Given the description of an element on the screen output the (x, y) to click on. 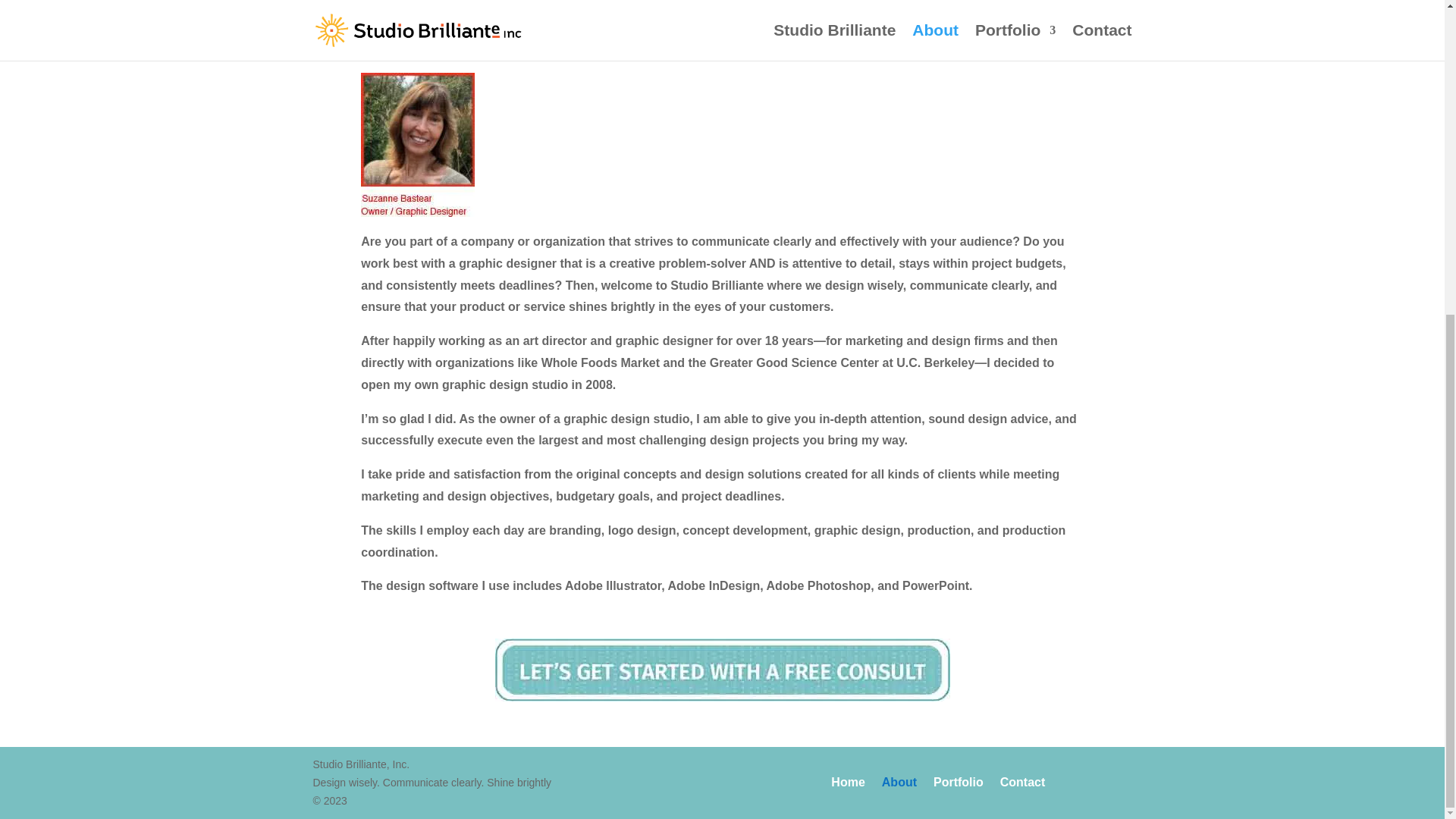
Home (847, 785)
Portfolio (958, 785)
Contact (1022, 785)
About (899, 785)
lets-get-started-button (722, 669)
